Given the description of an element on the screen output the (x, y) to click on. 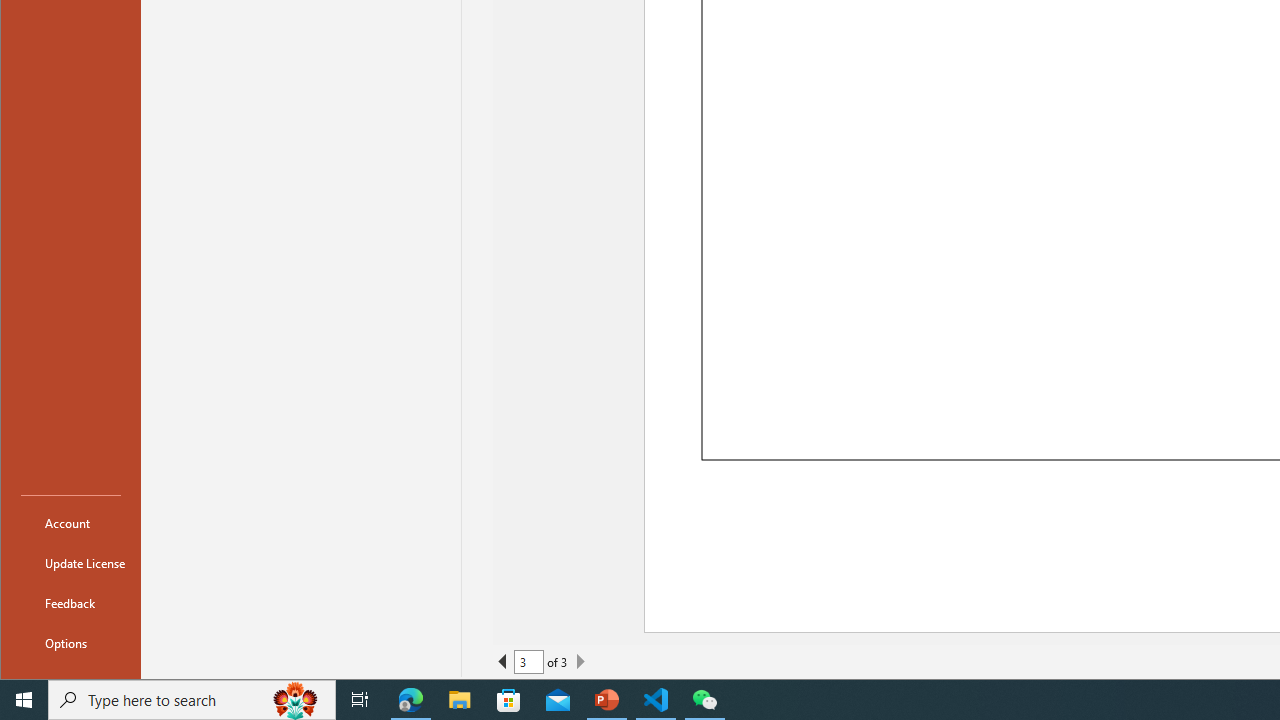
Next Page (580, 661)
